Given the description of an element on the screen output the (x, y) to click on. 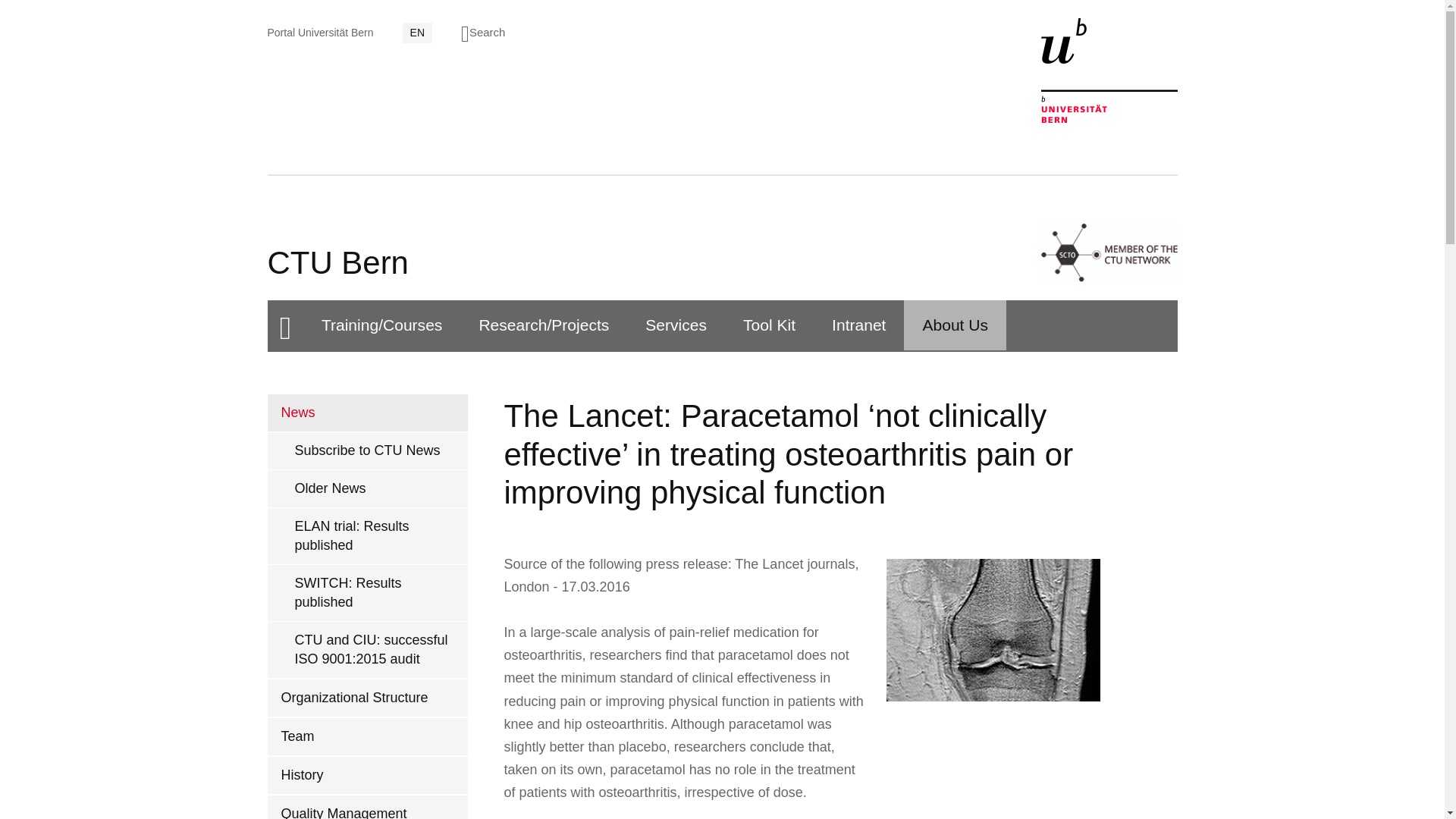
ELAN trial: Results published (366, 535)
SWITCH: Results published (366, 592)
Older News (366, 488)
Quality Management (366, 807)
About Us (955, 325)
Tool Kit (769, 325)
Services (676, 325)
Subscribe to CTU News (366, 450)
Team (366, 736)
